Given the description of an element on the screen output the (x, y) to click on. 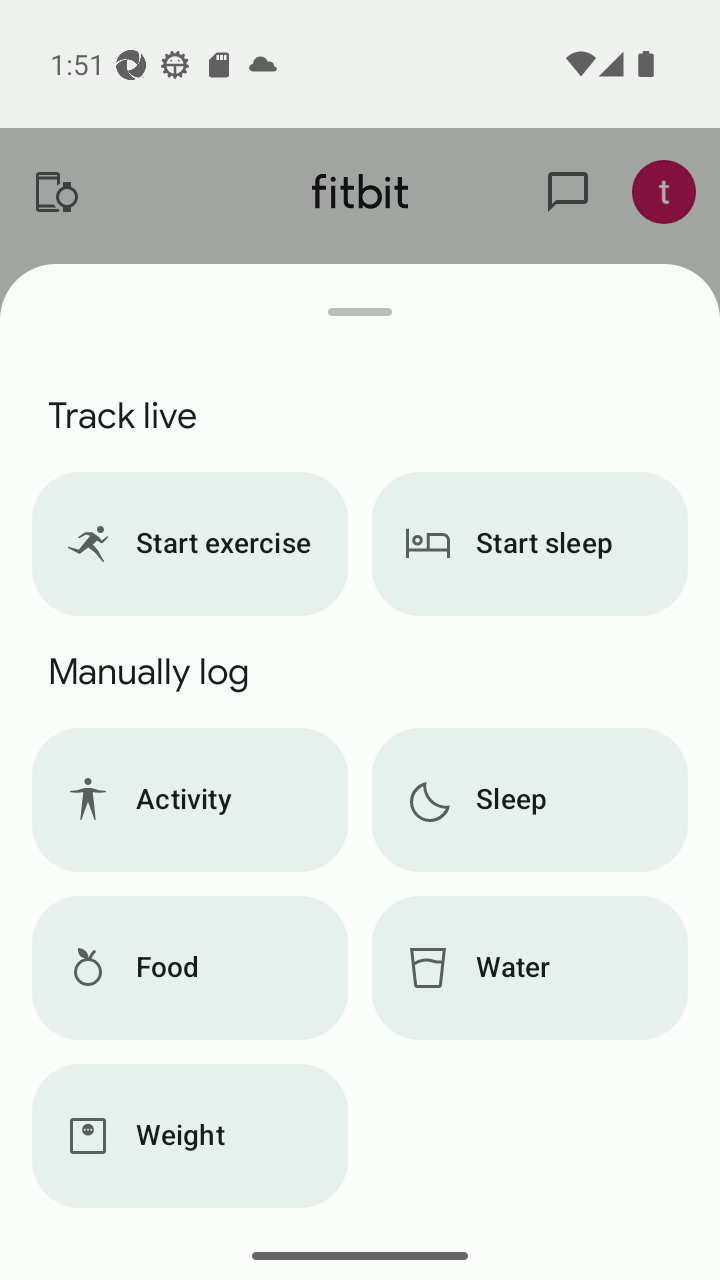
Start exercise (189, 543)
Start sleep (530, 543)
Activity (189, 799)
Sleep (530, 799)
Food (189, 967)
Water (530, 967)
Weight (189, 1135)
